Given the description of an element on the screen output the (x, y) to click on. 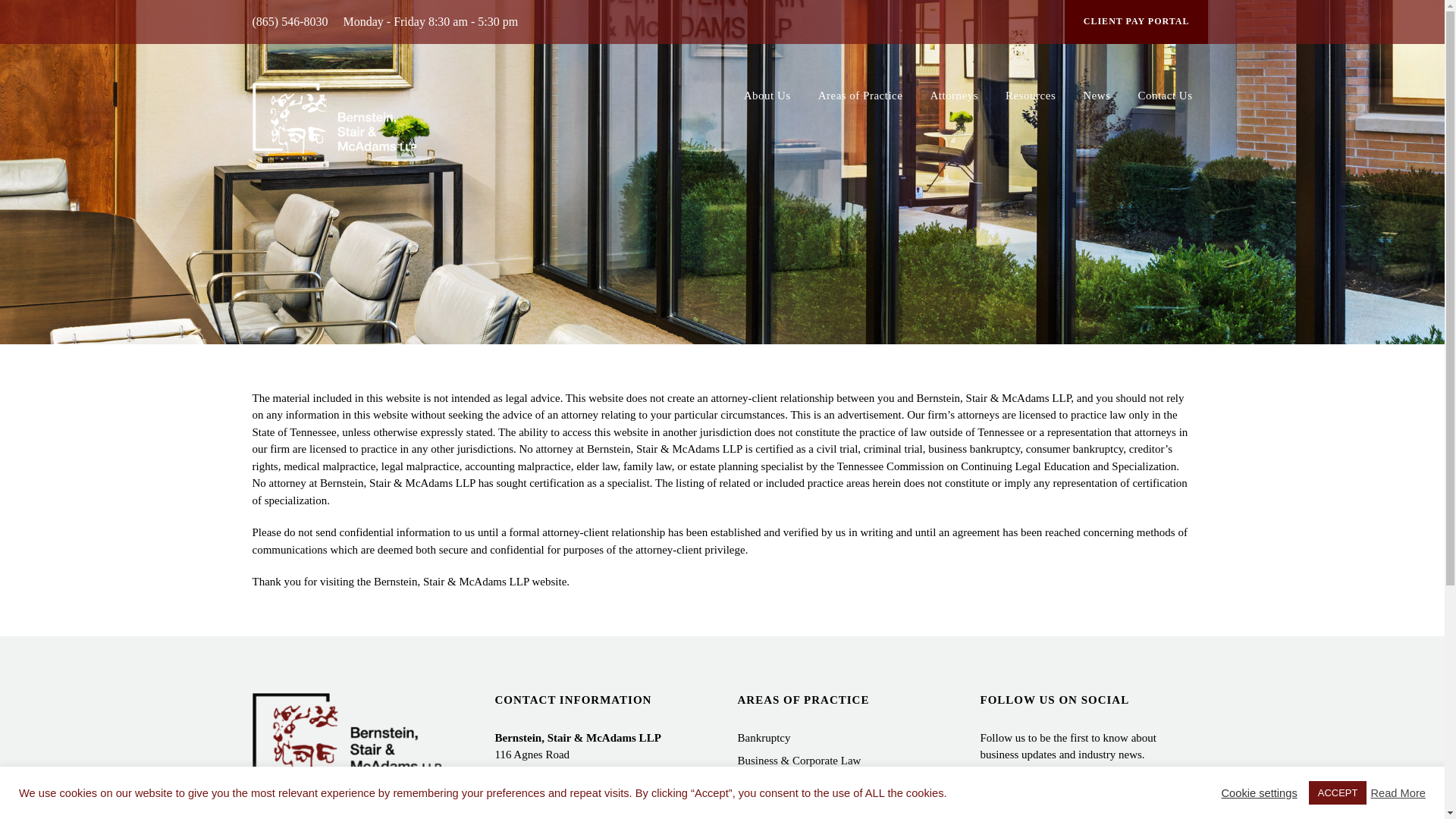
CLIENT PAY PORTAL (1136, 22)
BSM logo white (333, 117)
Areas of Practice (860, 106)
About Us (767, 106)
